Given the description of an element on the screen output the (x, y) to click on. 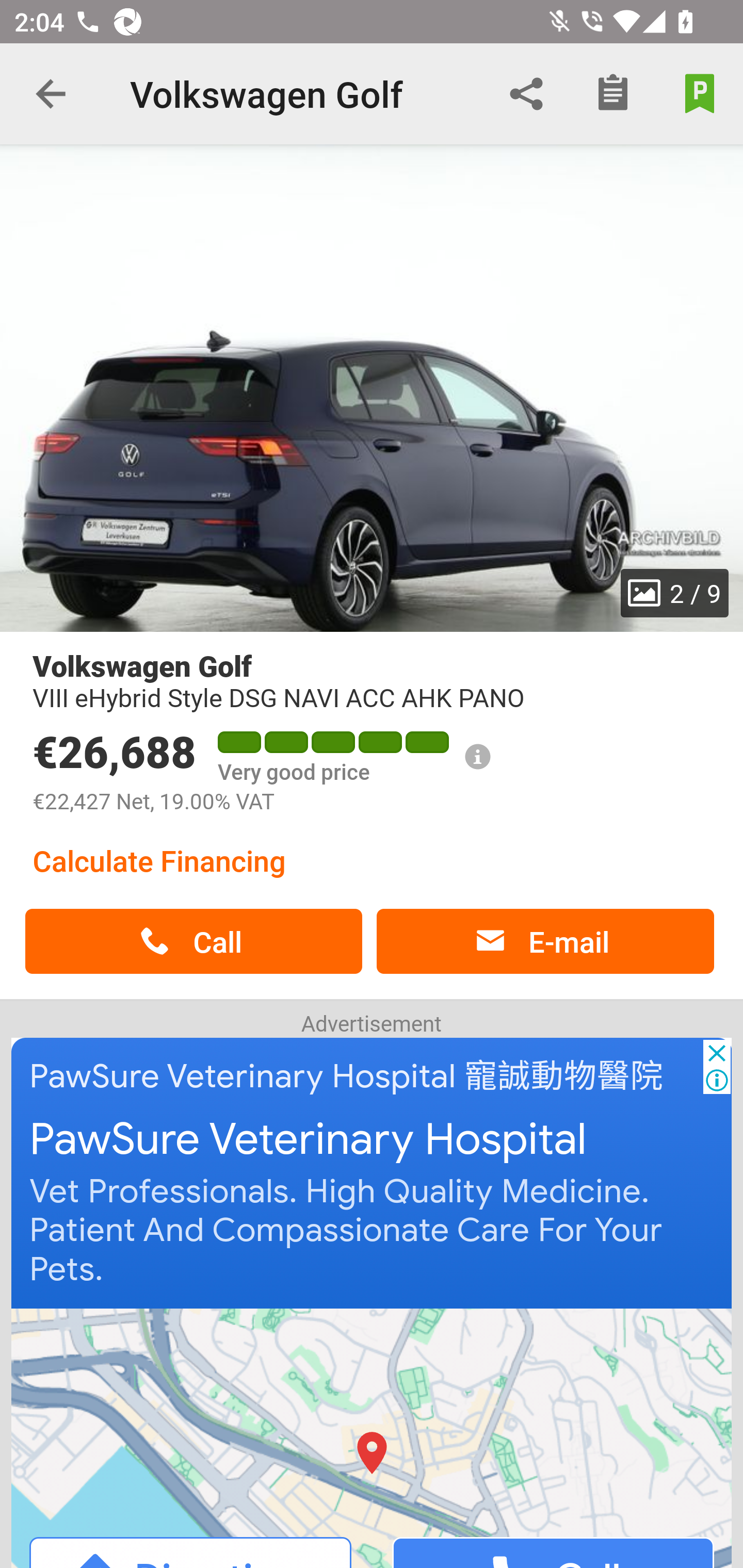
Navigate up (50, 93)
Share via (525, 93)
Checklist (612, 93)
Park (699, 93)
Calculate Financing (159, 859)
Call (193, 941)
E-mail (545, 941)
PawSure Veterinary Hospital 寵誠動物醫院 (346, 1076)
PawSure Veterinary Hospital (307, 1139)
Directions Call Directions Call (372, 1437)
